Given the description of an element on the screen output the (x, y) to click on. 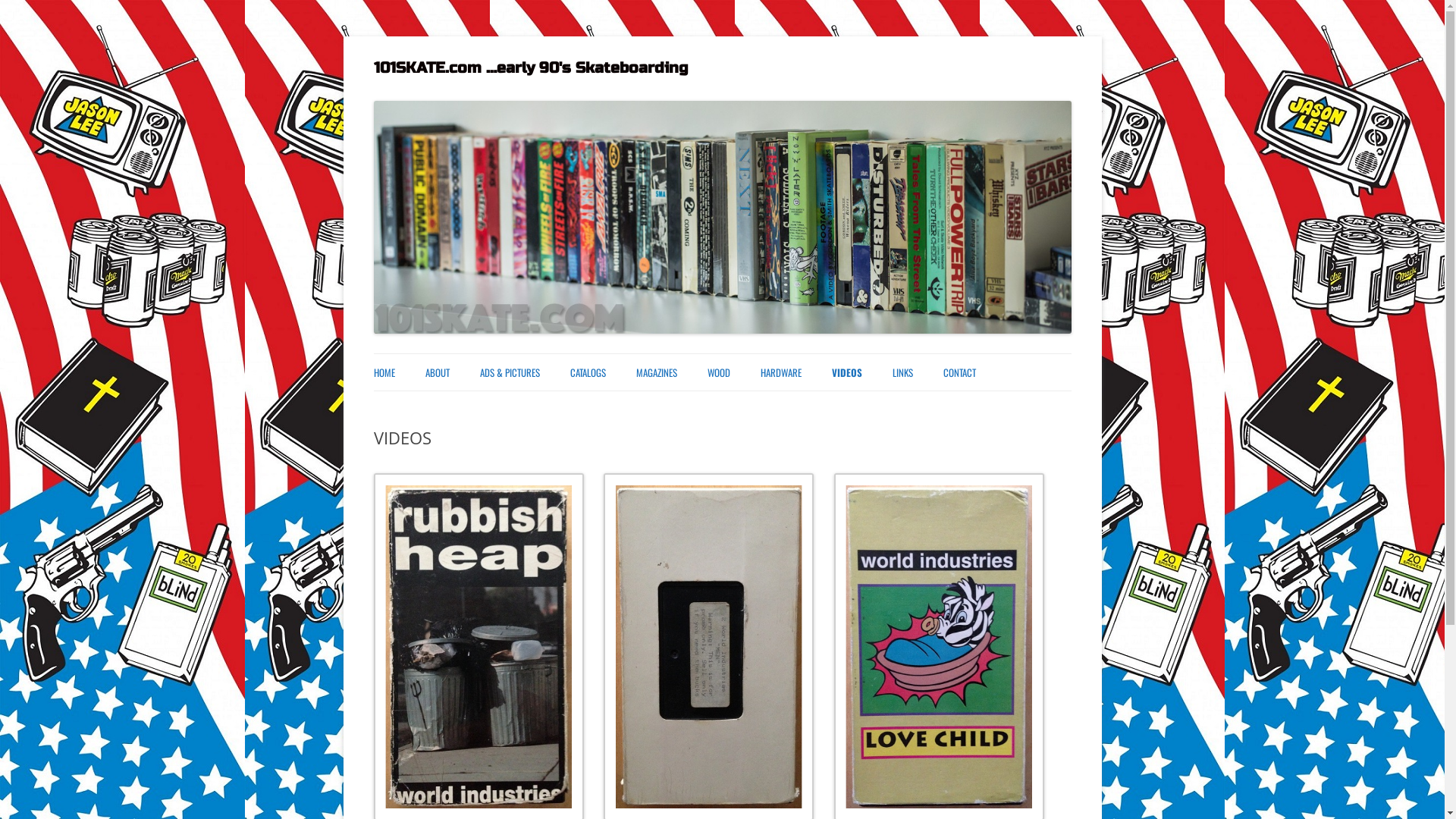
ABOUT Element type: text (436, 372)
CONTACT Element type: text (959, 372)
WOOD Element type: text (717, 372)
HOME Element type: text (383, 372)
LINKS Element type: text (901, 372)
HARDWARE Element type: text (779, 372)
VIDEOS Element type: text (846, 372)
Zum Inhalt springen Element type: text (773, 358)
MAGAZINES Element type: text (655, 372)
ADS & PICTURES Element type: text (509, 372)
WORLD INDUSTRIES, BLIND & 101 Element type: text (645, 407)
WHEELS Element type: text (835, 407)
CATALOGS Element type: text (587, 372)
